Given the description of an element on the screen output the (x, y) to click on. 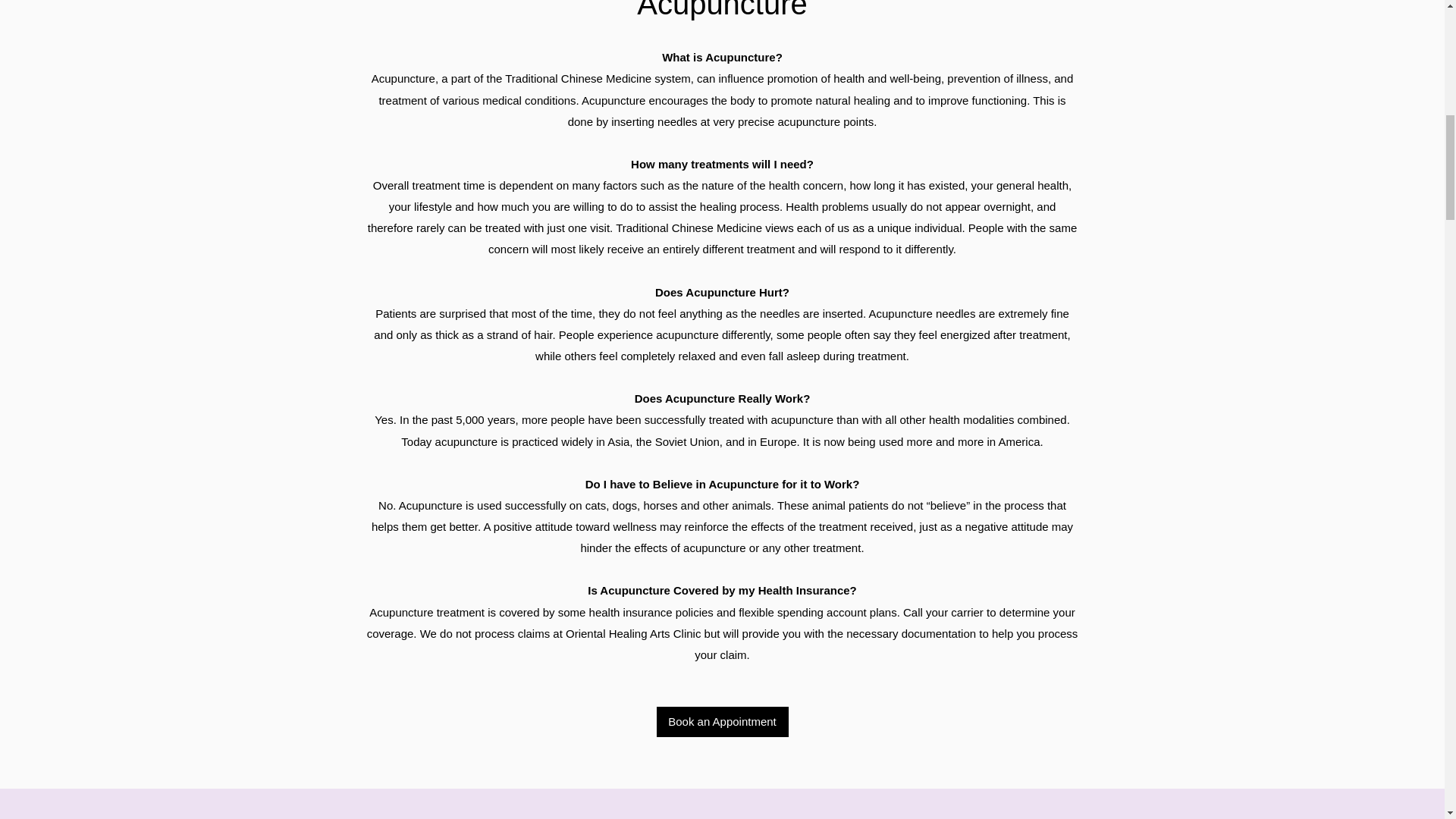
Book an Appointment (722, 721)
